Given the description of an element on the screen output the (x, y) to click on. 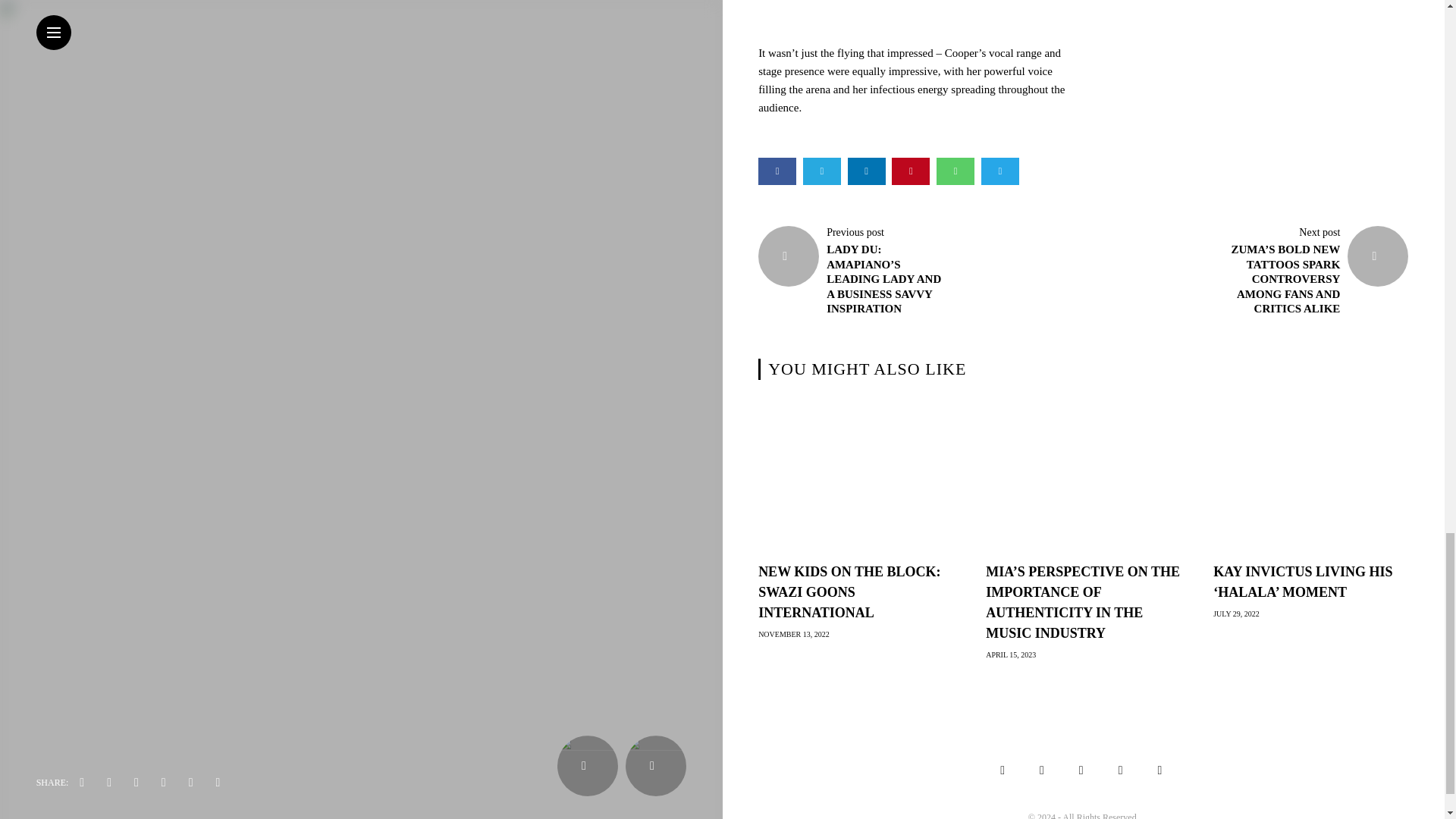
facebook (777, 171)
